Given the description of an element on the screen output the (x, y) to click on. 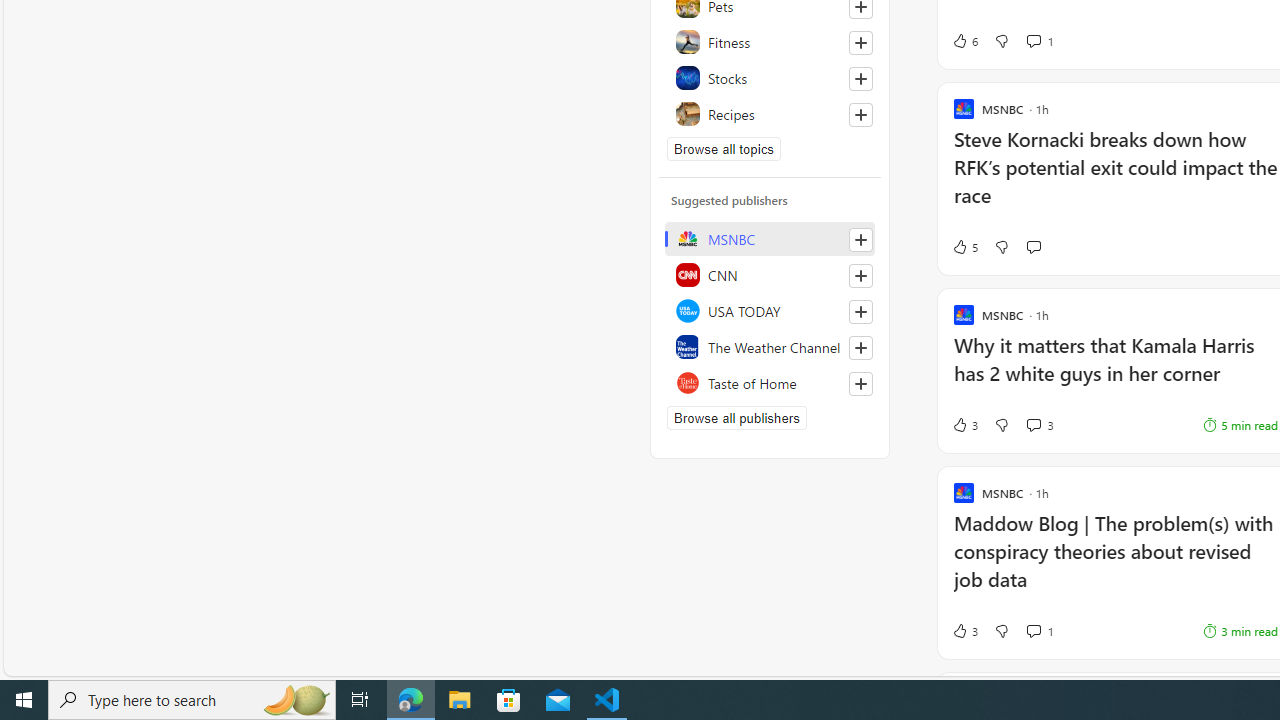
Fitness (770, 42)
Browse all topics (724, 148)
The Weather Channel (770, 346)
5 Like (964, 246)
Stocks (770, 78)
Taste of Home (770, 382)
